Given the description of an element on the screen output the (x, y) to click on. 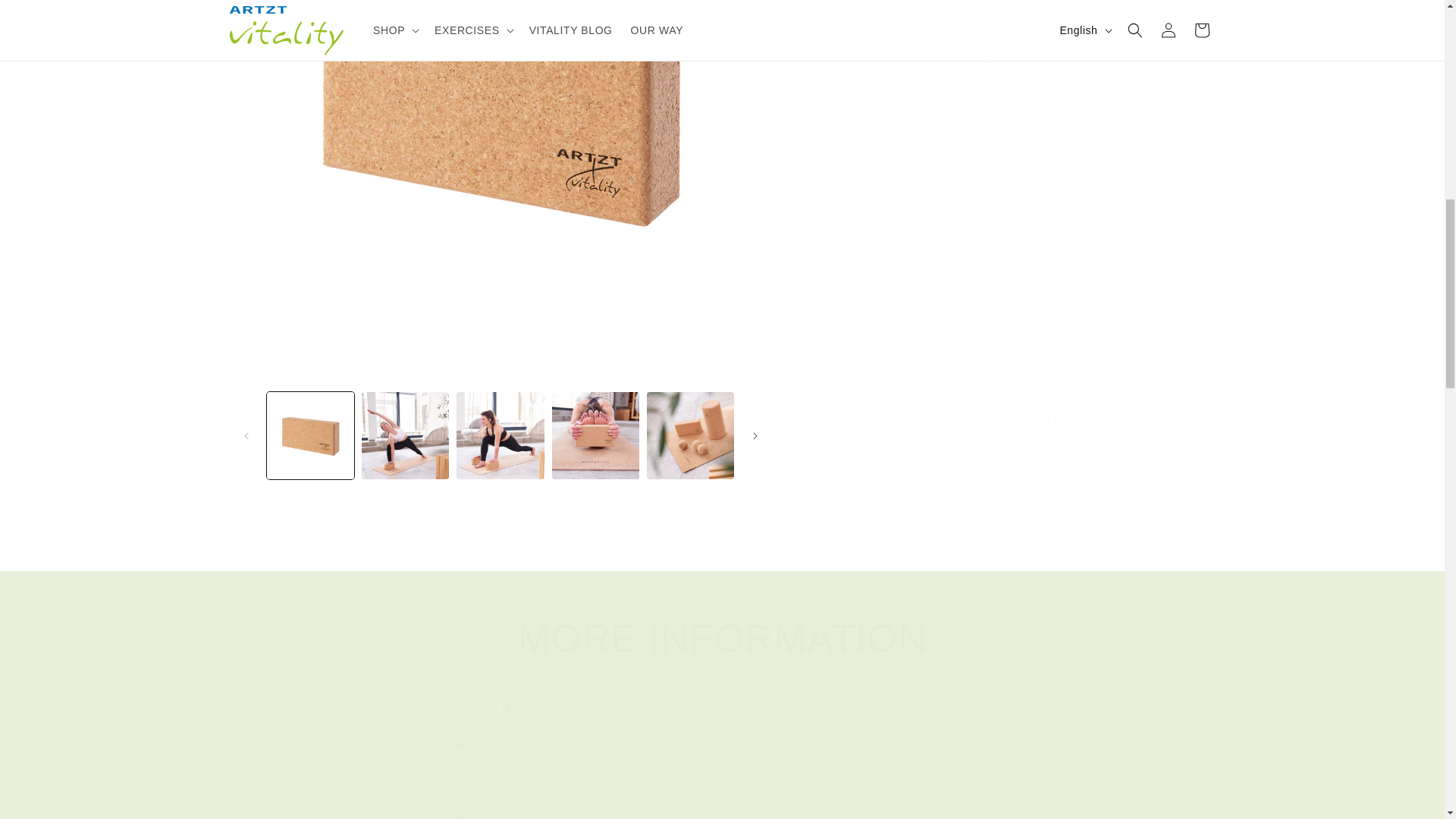
MORE INFORMATION (721, 639)
